Given the description of an element on the screen output the (x, y) to click on. 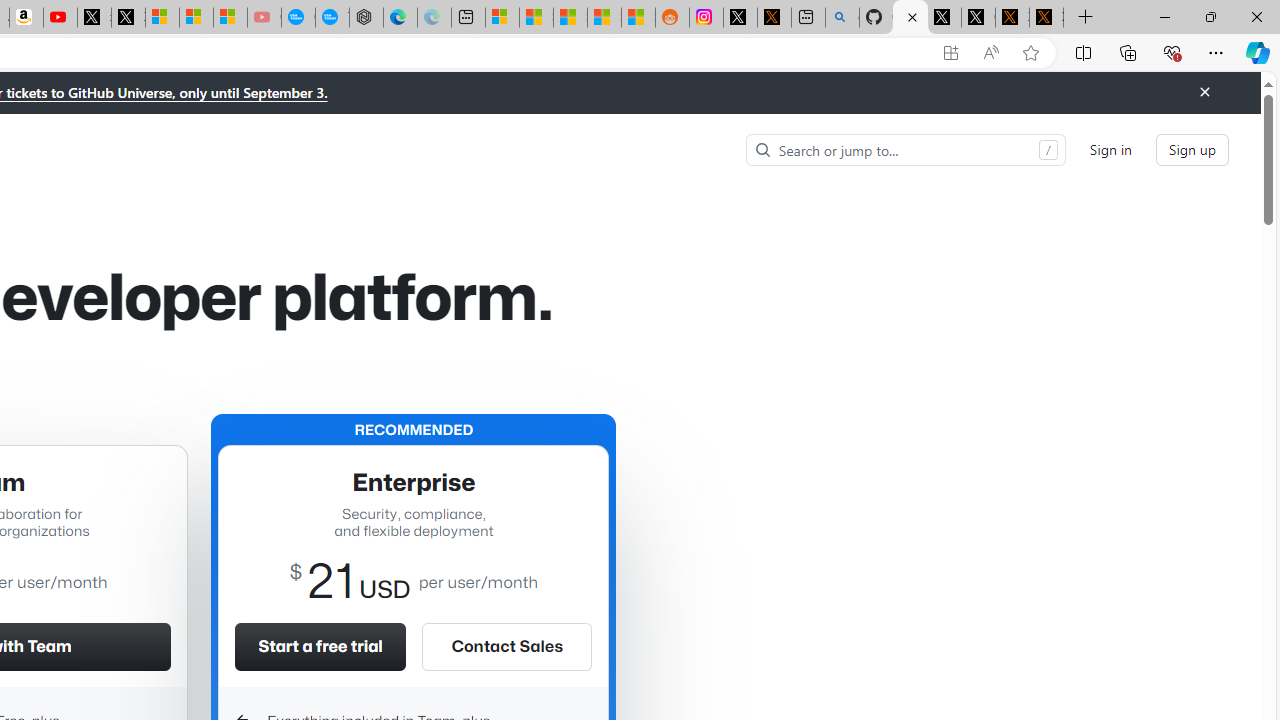
Shanghai, China weather forecast | Microsoft Weather (535, 17)
Shanghai, China Weather trends | Microsoft Weather (638, 17)
Log in to X / X (740, 17)
X (127, 17)
Day 1: Arriving in Yemen (surreal to be here) - YouTube (59, 17)
Gloom - YouTube - Sleeping (264, 17)
GitHub (@github) / X (978, 17)
Contact Sales (506, 646)
Nordace - Nordace has arrived Hong Kong (365, 17)
